Given the description of an element on the screen output the (x, y) to click on. 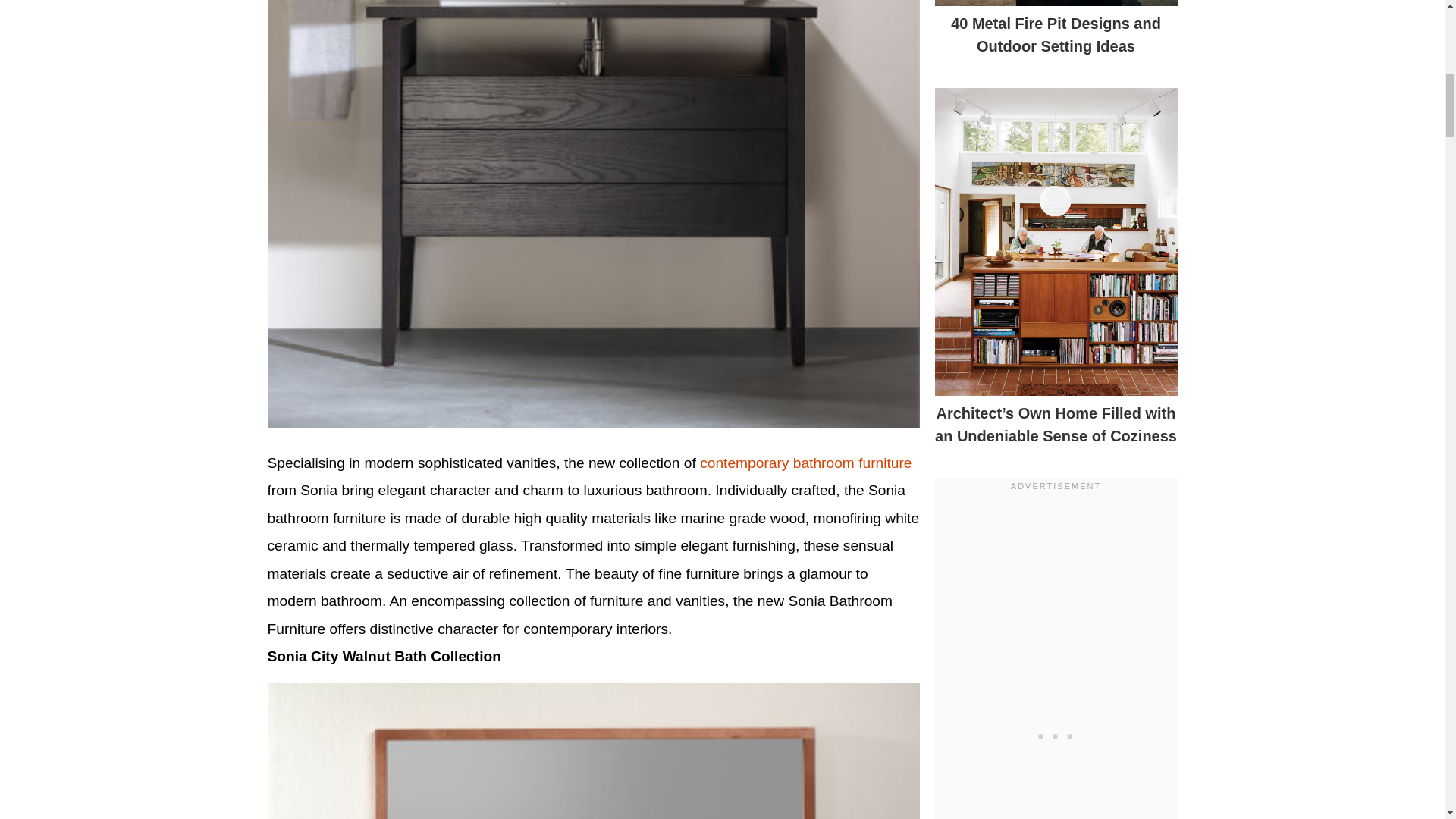
contemporary bathroom furniture (805, 462)
